Given the description of an element on the screen output the (x, y) to click on. 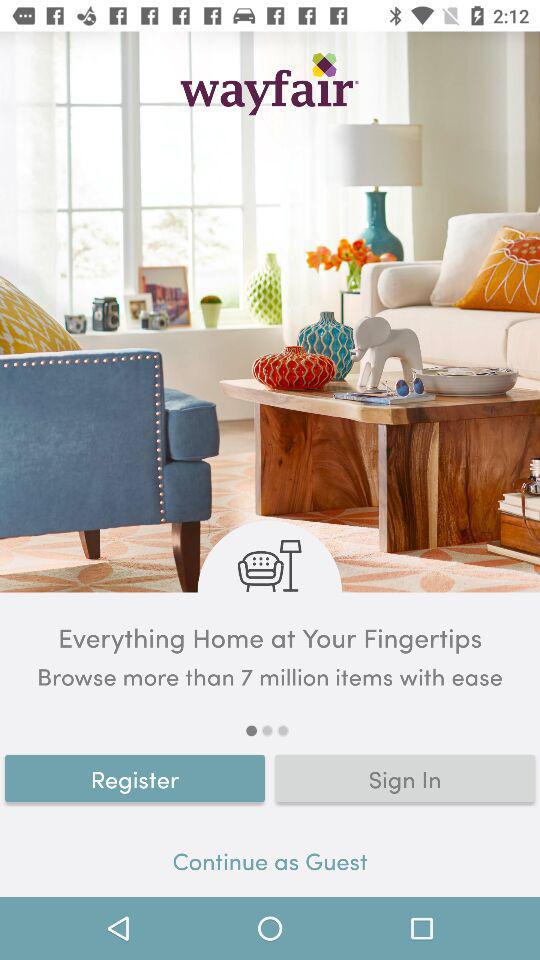
jump until continue as guest (270, 863)
